Given the description of an element on the screen output the (x, y) to click on. 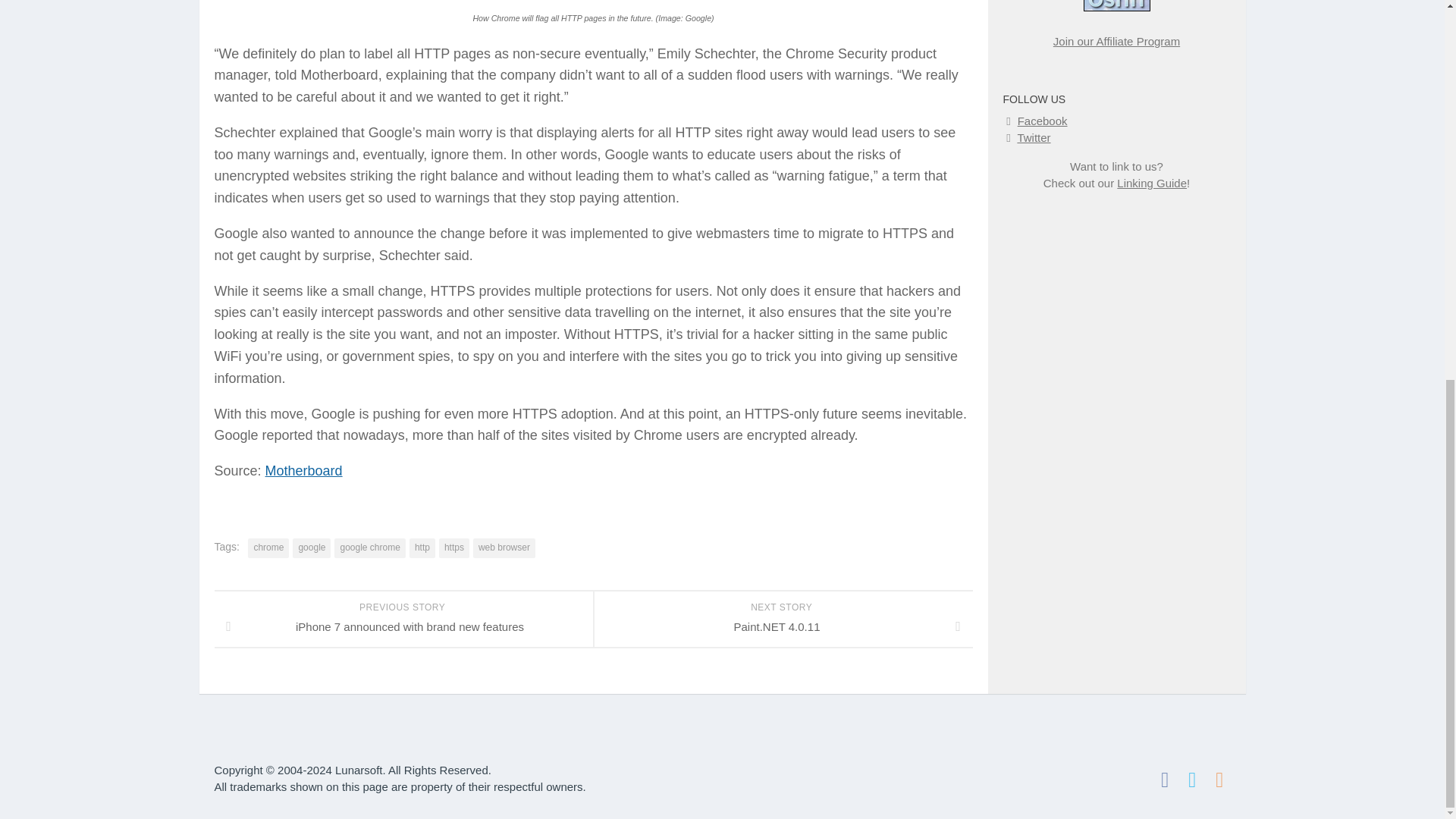
google chrome (369, 547)
http (422, 547)
chrome (267, 547)
https (453, 547)
OSNN - Windows, Linux and Macintosh News (1116, 5)
google (311, 547)
web browser (504, 547)
Follow our RSS feed (1219, 780)
Follow us on Twitter-square (1191, 780)
Motherboard (303, 470)
Follow us on Facebook-square (1164, 780)
